Given the description of an element on the screen output the (x, y) to click on. 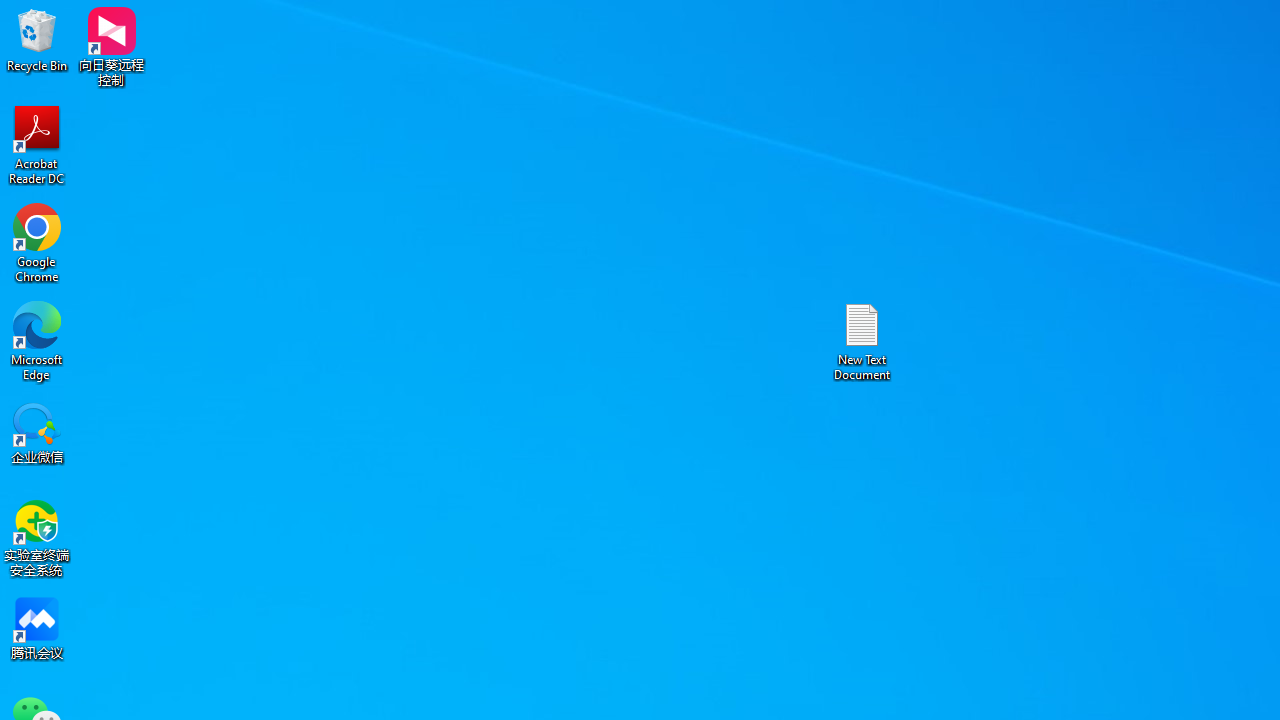
Repeat Doc Close (204, 15)
